Given the description of an element on the screen output the (x, y) to click on. 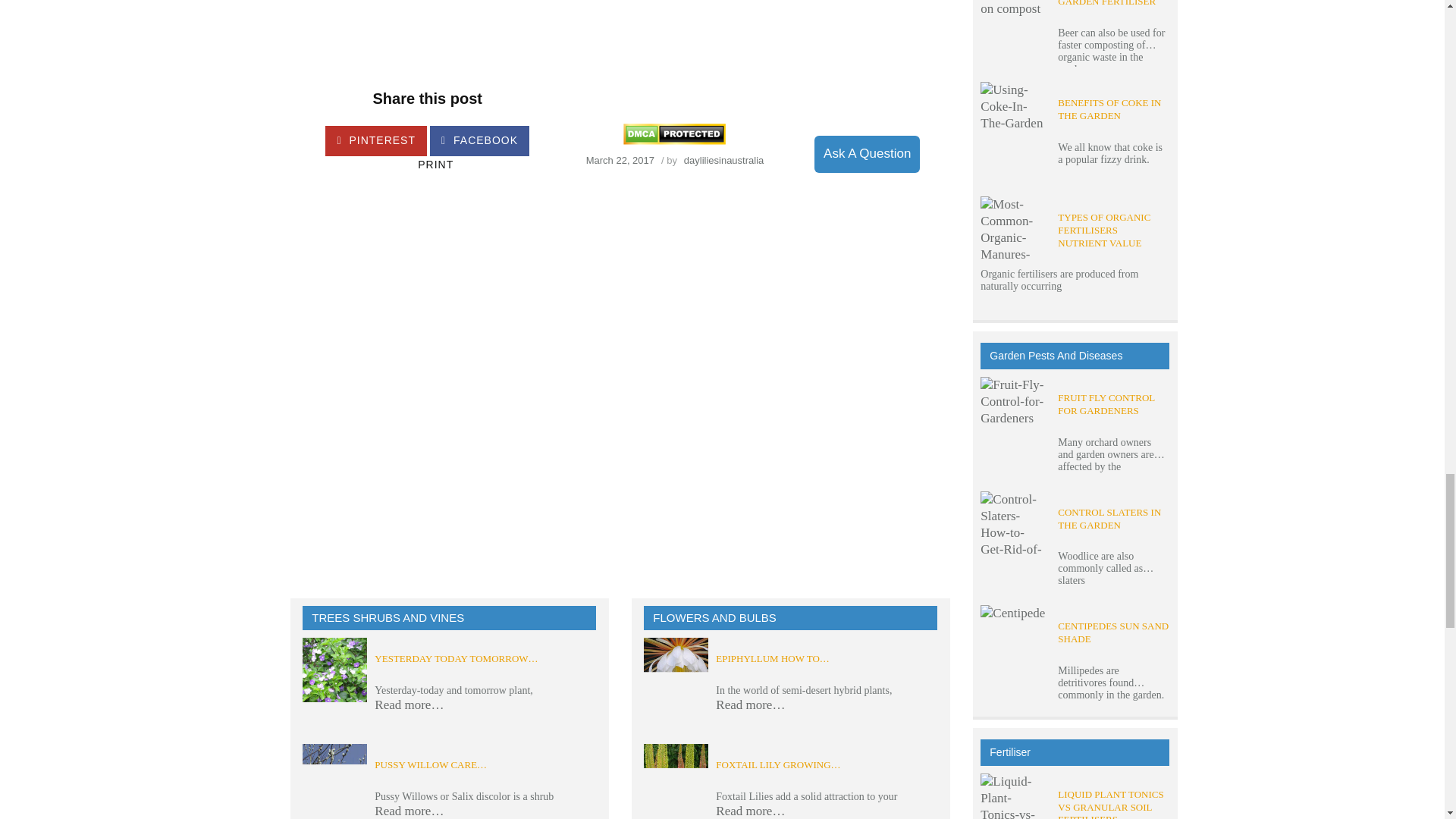
Ask A Question (866, 153)
PRINT (407, 162)
dayliliesinaustralia (724, 160)
